Given the description of an element on the screen output the (x, y) to click on. 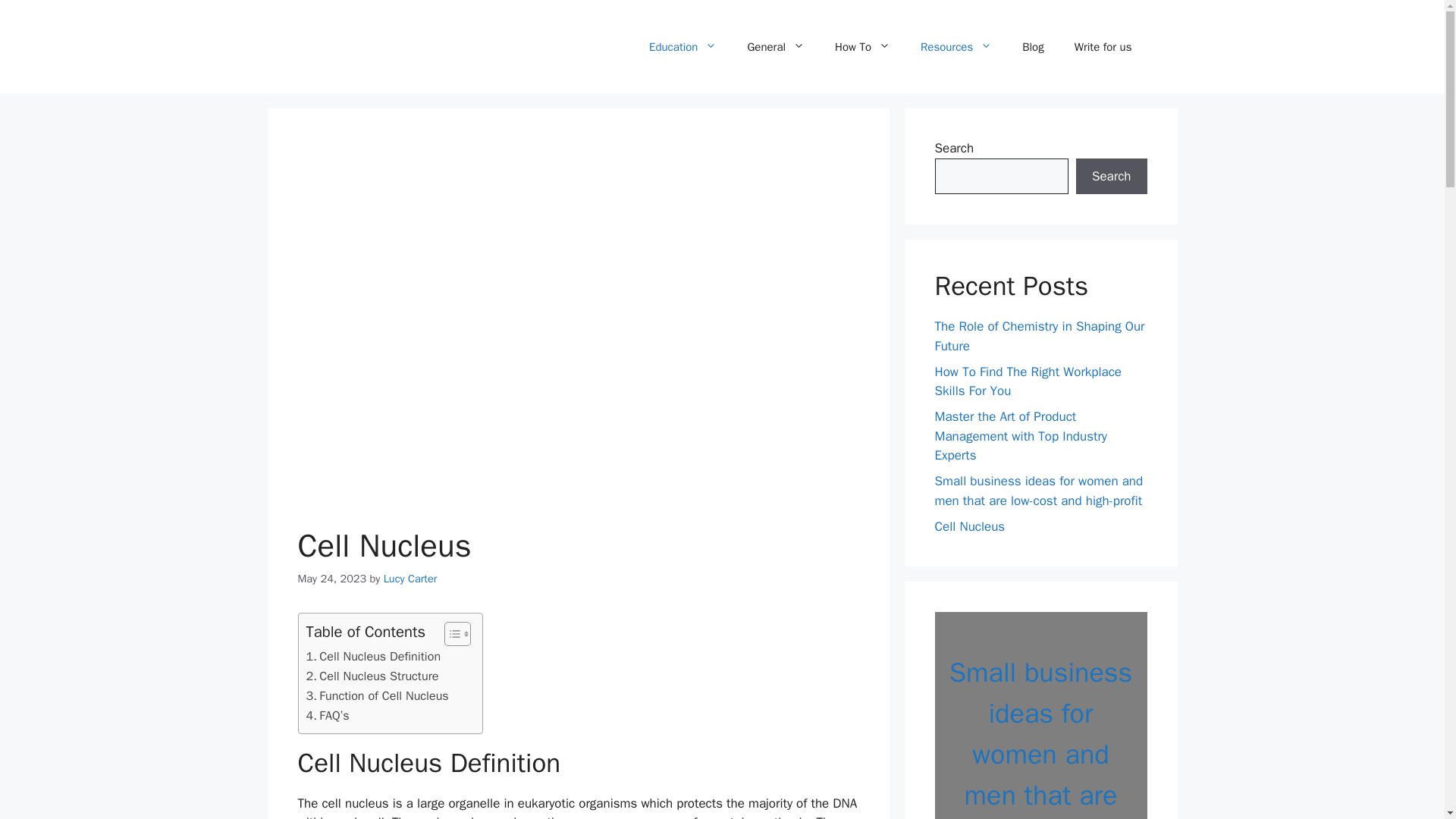
Cell Nucleus Definition (373, 656)
Cell Nucleus Structure (372, 676)
View all posts by Lucy Carter (411, 578)
Education (682, 46)
Resources (956, 46)
How To (862, 46)
Function of Cell Nucleus (376, 695)
General (775, 46)
